Given the description of an element on the screen output the (x, y) to click on. 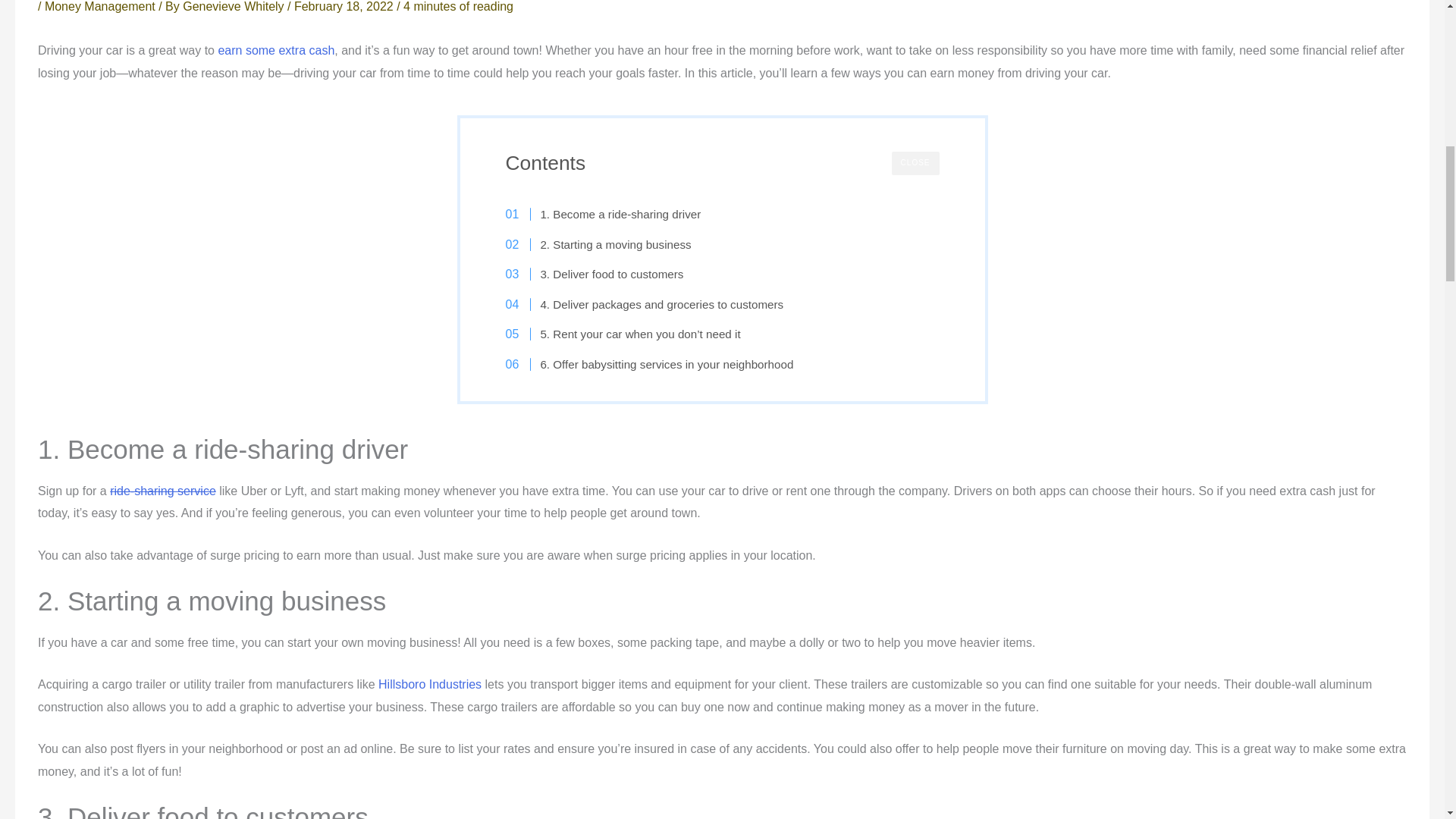
earn some extra cash (275, 50)
View all posts by Genevieve Whitely (234, 6)
ride-sharing service (162, 490)
1. Become a ride-sharing driver (610, 214)
Hillsboro Industries (429, 684)
4. Deliver packages and groceries to customers (652, 304)
CLOSE (915, 163)
3. Deliver food to customers (601, 274)
2. Starting a moving business (605, 244)
Genevieve Whitely (234, 6)
Money Management (100, 6)
6. Offer babysitting services in your neighborhood (657, 364)
